Given the description of an element on the screen output the (x, y) to click on. 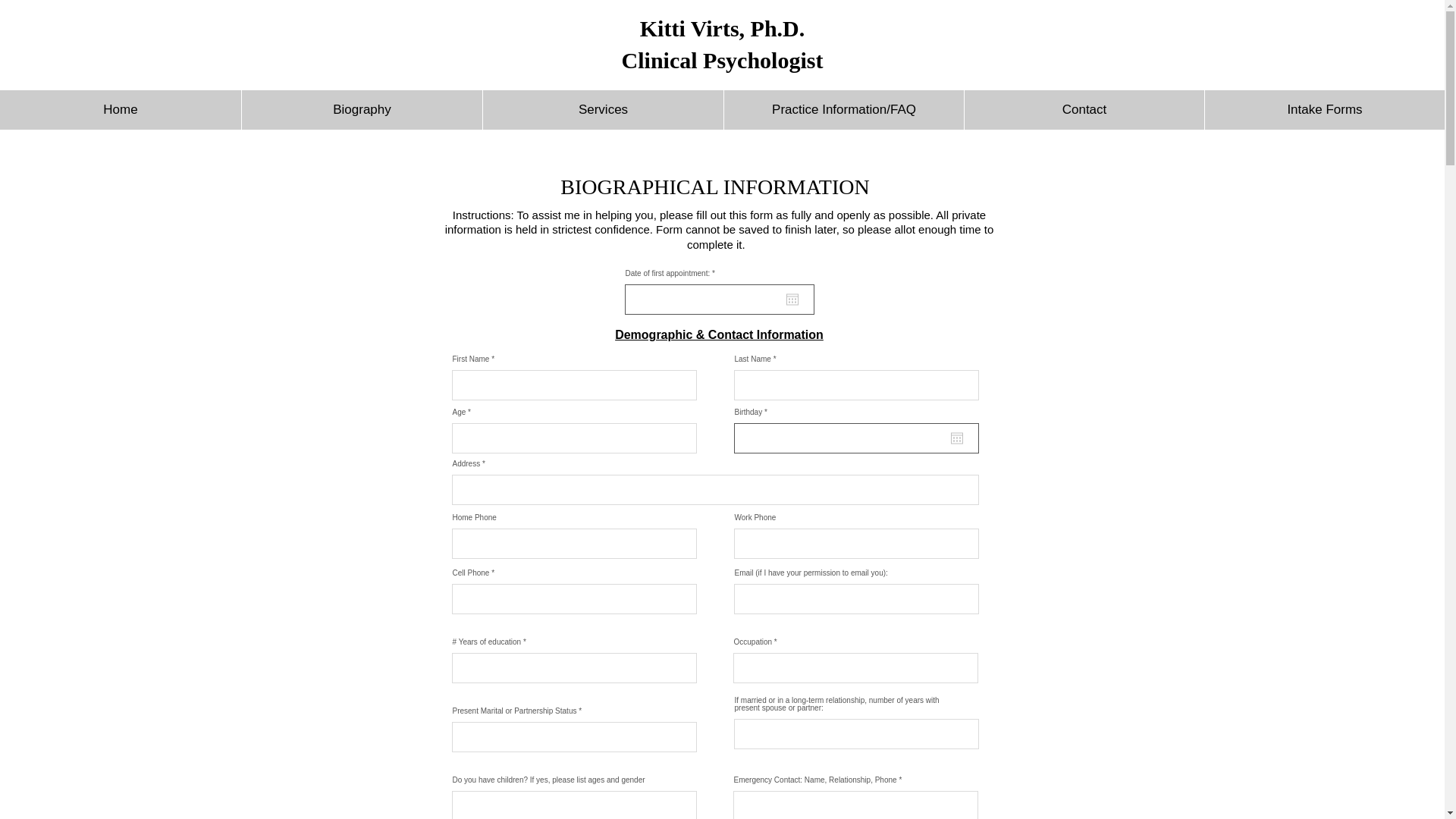
Home (120, 109)
Biography (361, 109)
Services (602, 109)
Kitti Virts, Ph.D. (722, 27)
Contact (1083, 109)
